Given the description of an element on the screen output the (x, y) to click on. 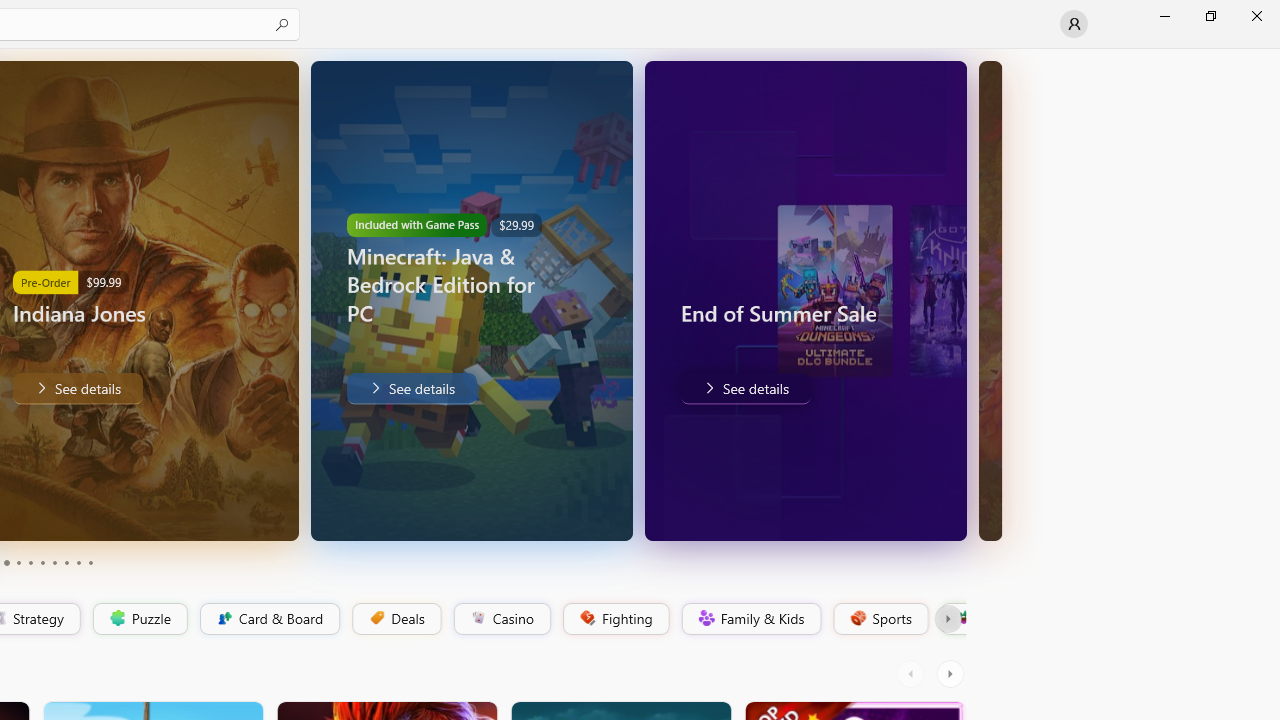
Page 5 (29, 562)
Page 7 (54, 562)
Puzzle (139, 619)
Class: Button (947, 619)
AutomationID: LeftScrollButton (913, 673)
Sports (879, 619)
Family & Kids (750, 619)
Deals (395, 619)
Fighting (614, 619)
Platformer (952, 619)
